Given the description of an element on the screen output the (x, y) to click on. 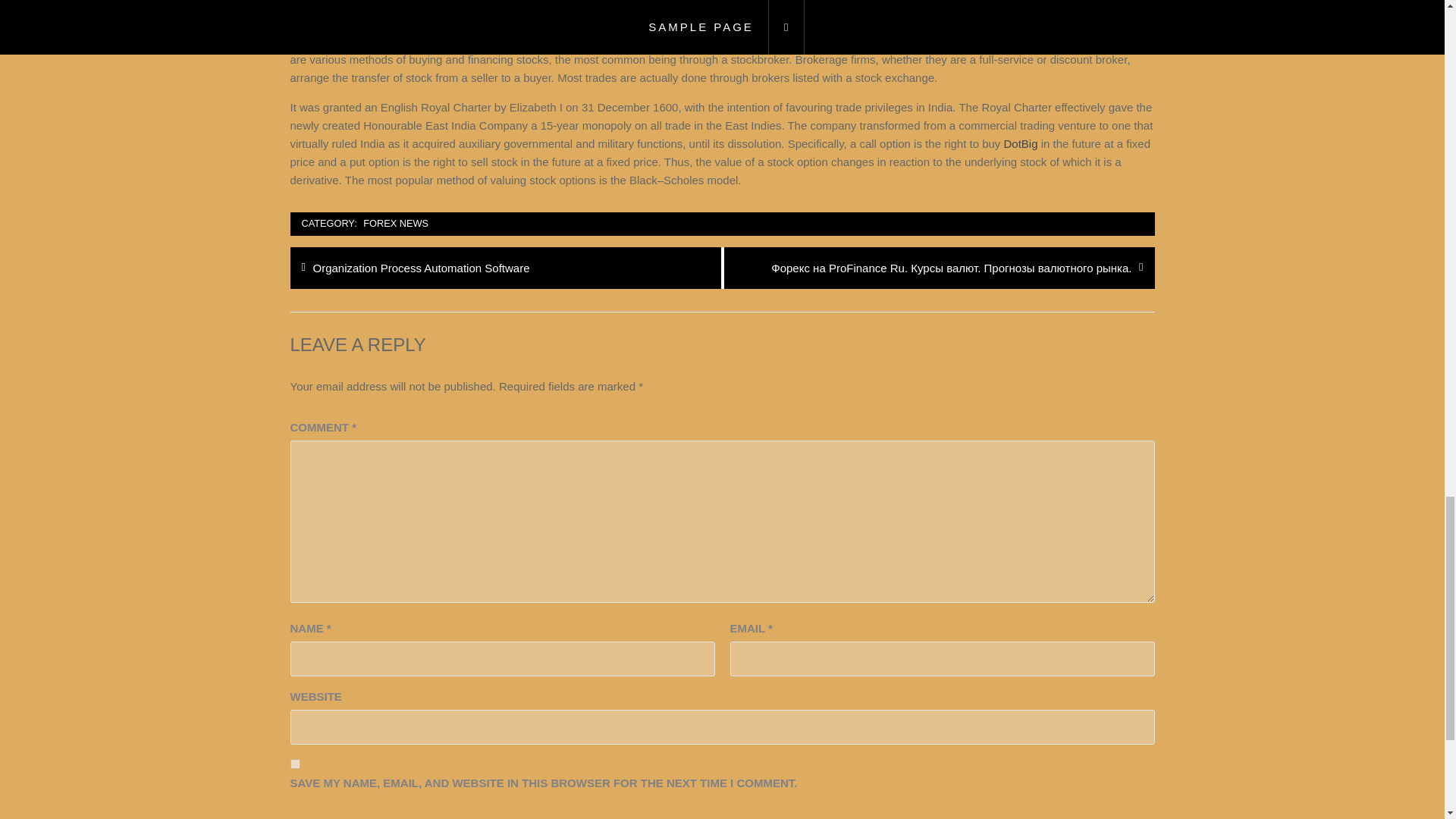
DotBig (1021, 143)
yes (421, 268)
FOREX NEWS (294, 764)
